Given the description of an element on the screen output the (x, y) to click on. 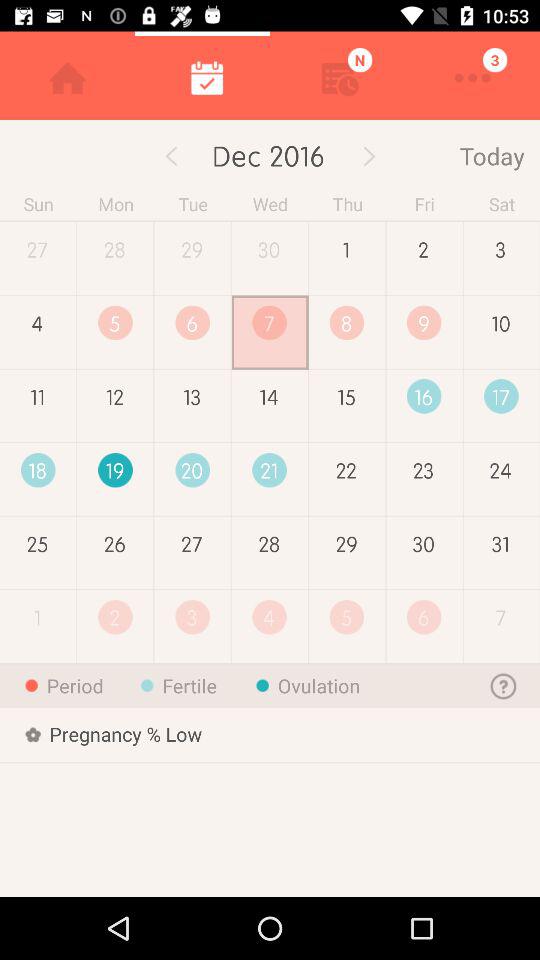
help question option (503, 685)
